Given the description of an element on the screen output the (x, y) to click on. 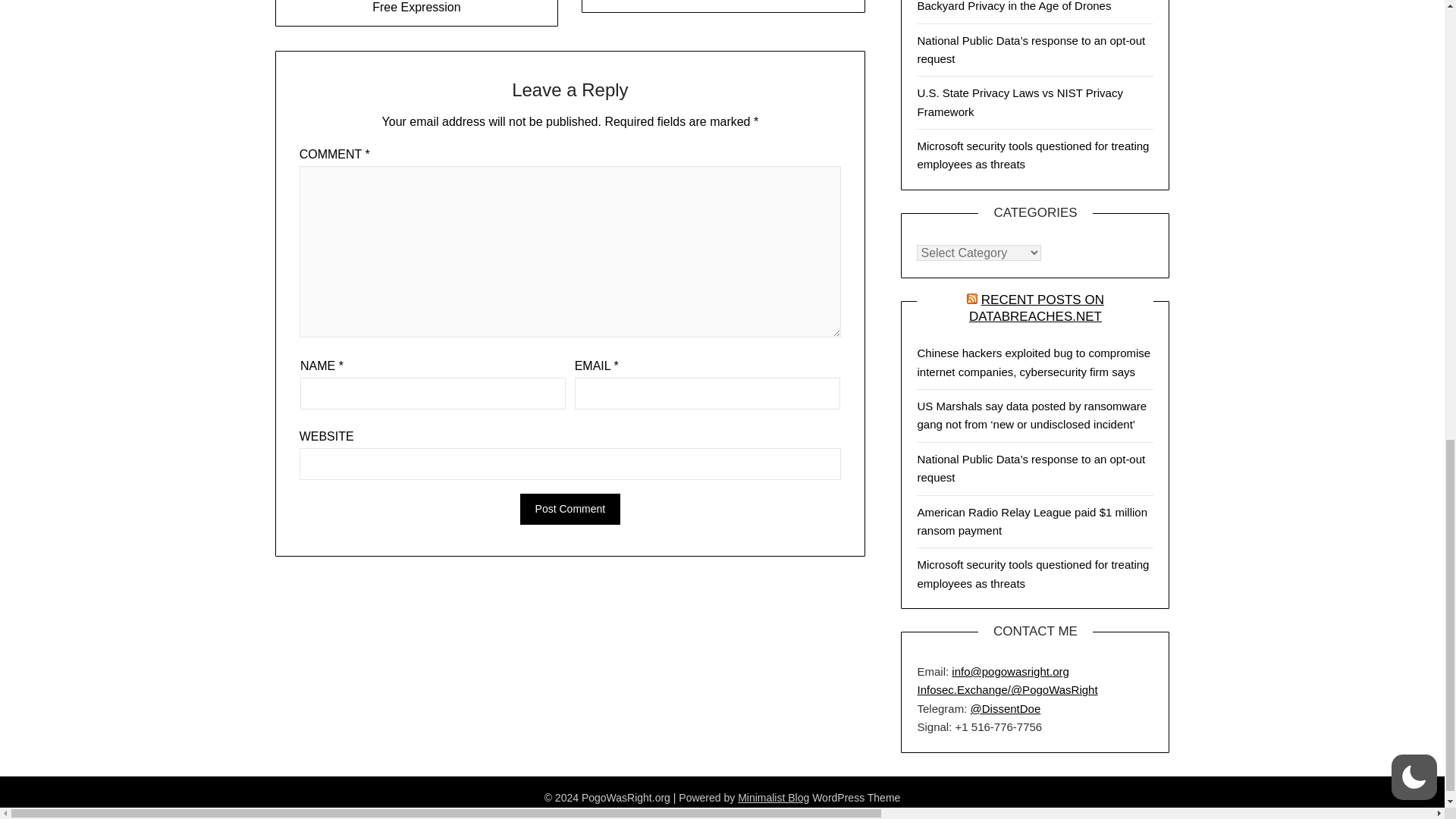
U.S. State Privacy Laws vs NIST Privacy Framework (1019, 101)
Minimalist Blog (773, 797)
Post Comment (570, 508)
RECENT POSTS ON DATABREACHES.NET (1036, 307)
Backyard Privacy in the Age of Drones (1013, 6)
Post Comment (570, 508)
